Given the description of an element on the screen output the (x, y) to click on. 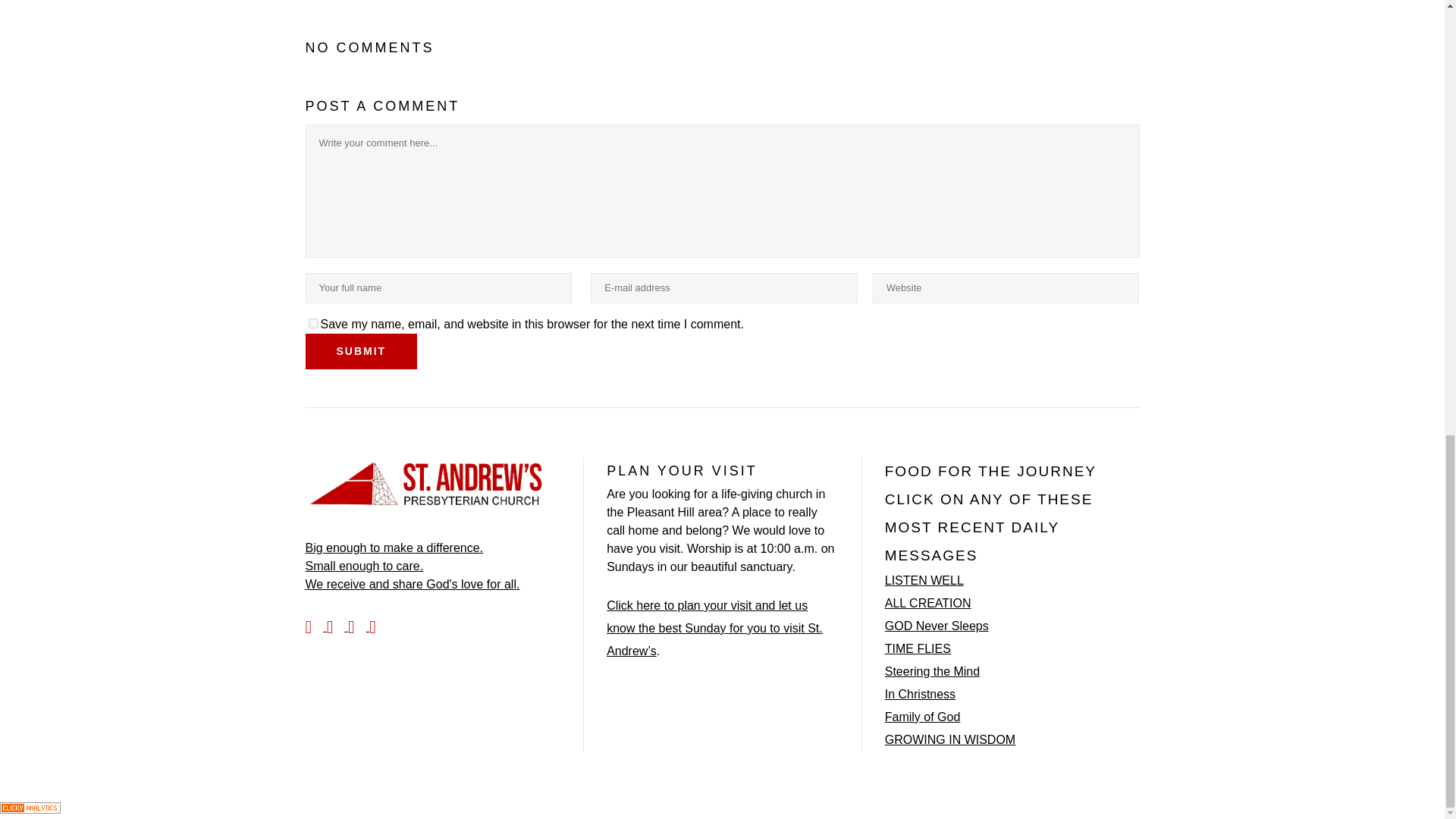
GROWING IN WISDOM (949, 739)
Web Analytics (30, 809)
LISTEN WELL (924, 580)
Steering the Mind (932, 671)
Submit (360, 351)
yes (312, 323)
GOD Never Sleeps (936, 626)
Submit (360, 351)
Family of God (922, 716)
TIME FLIES (917, 649)
In Christness (920, 694)
ALL CREATION (928, 603)
